Given the description of an element on the screen output the (x, y) to click on. 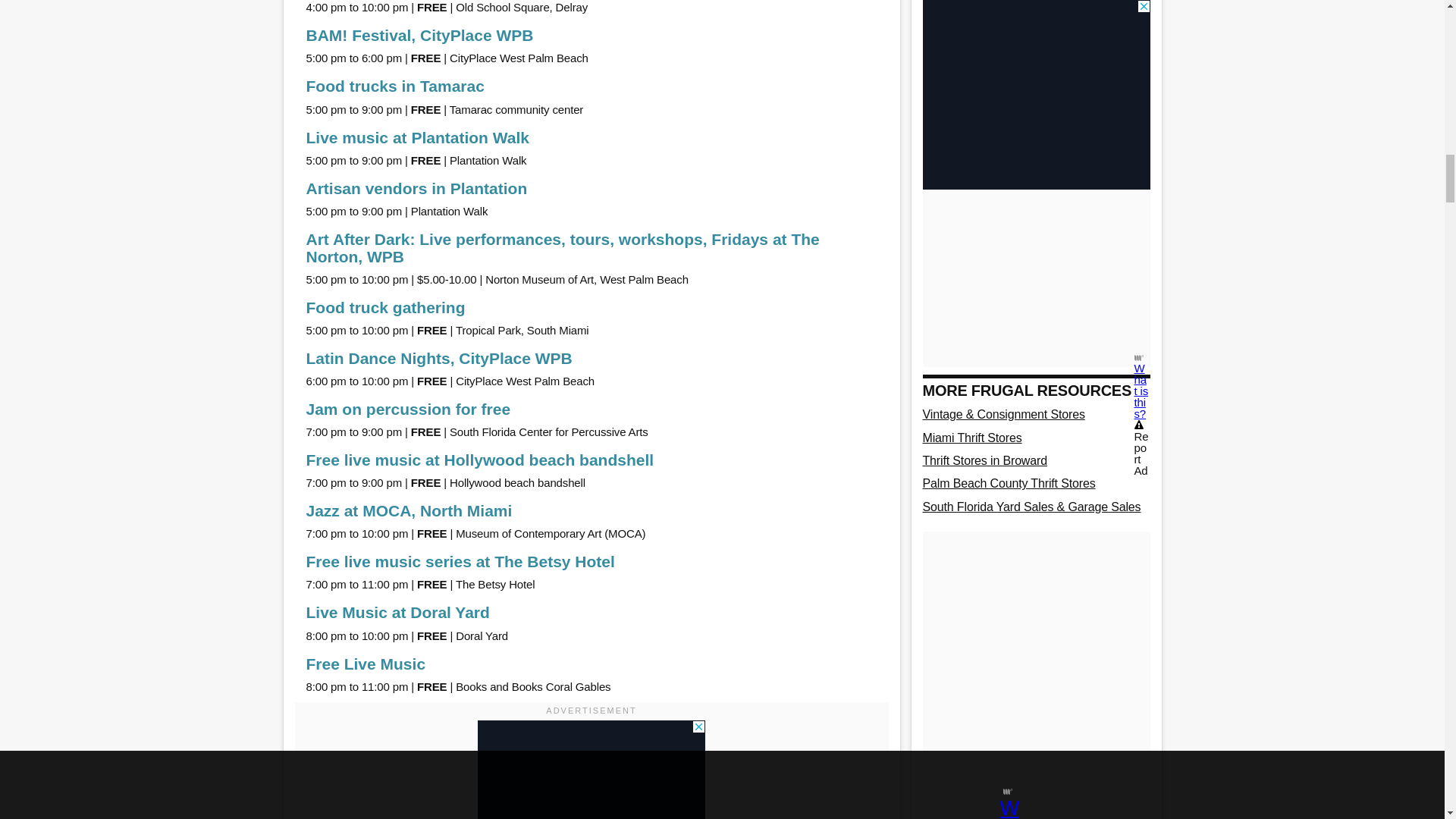
3rd party ad content (1035, 50)
3rd party ad content (590, 769)
